Given the description of an element on the screen output the (x, y) to click on. 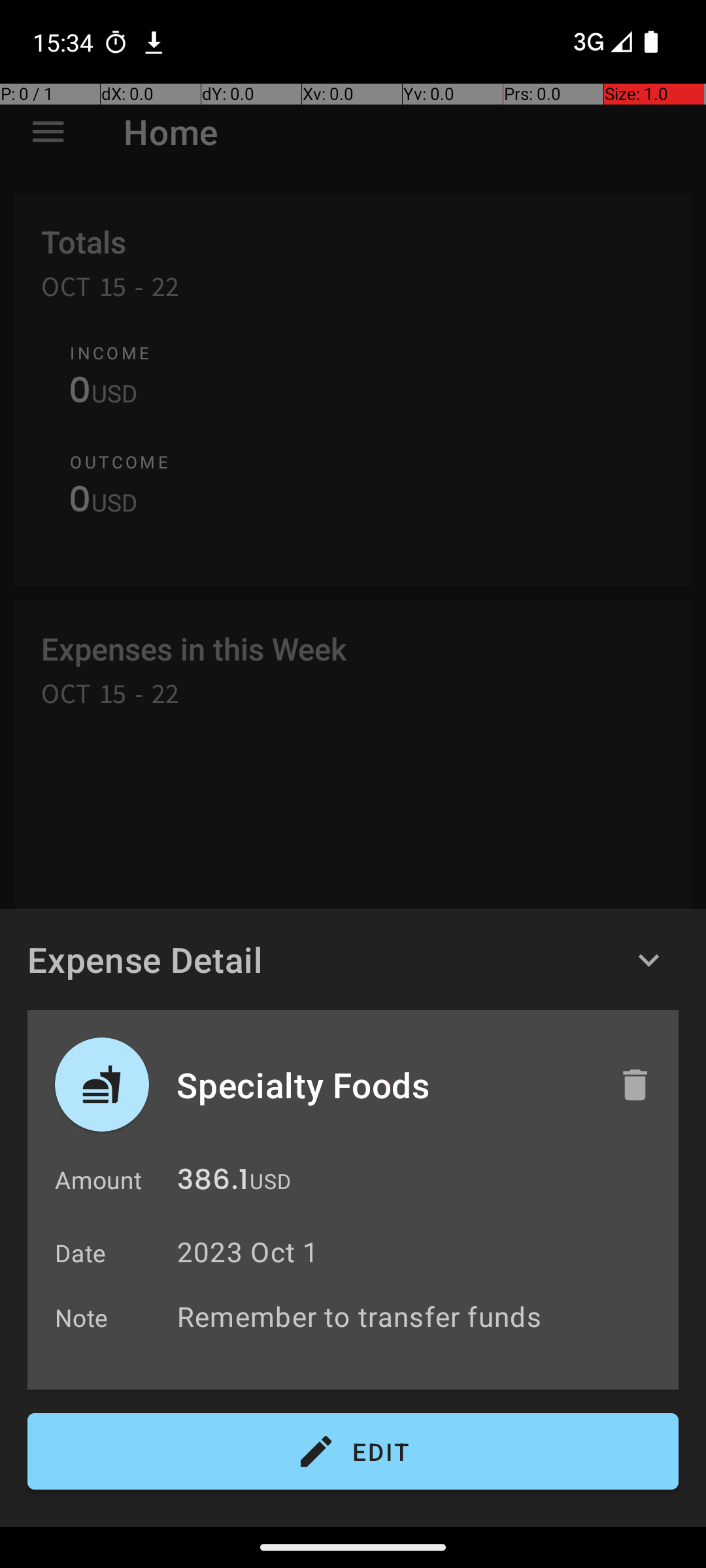
386.1 Element type: android.widget.TextView (212, 1182)
2023 Oct 1 Element type: android.widget.TextView (247, 1251)
